Given the description of an element on the screen output the (x, y) to click on. 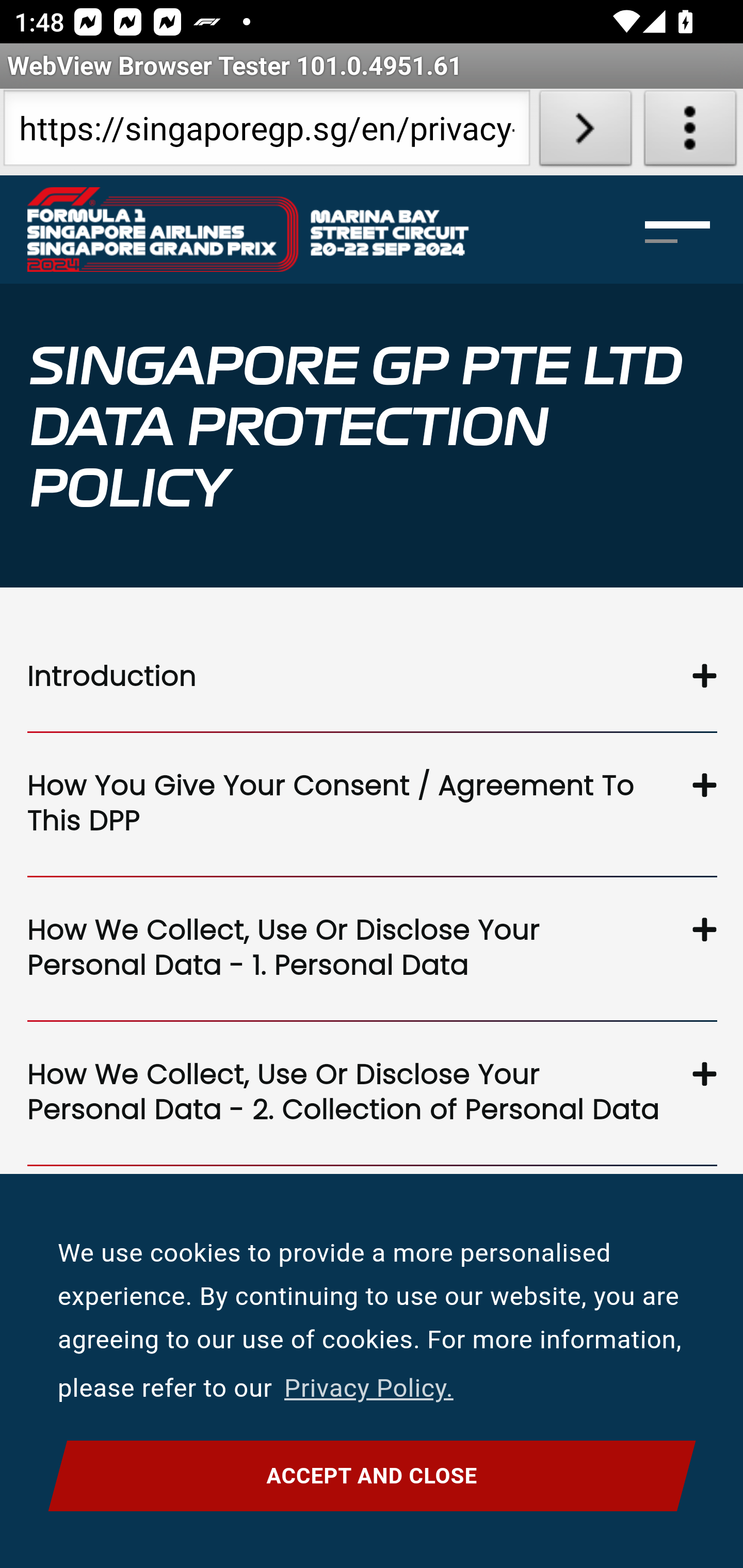
https://singaporegp.sg/en/privacy-policy (266, 132)
Load URL (585, 132)
About WebView (690, 132)
Singapore Grand Prix Logo (247, 229)
learn more about cookies (368, 1388)
dismiss cookie message (371, 1476)
